Given the description of an element on the screen output the (x, y) to click on. 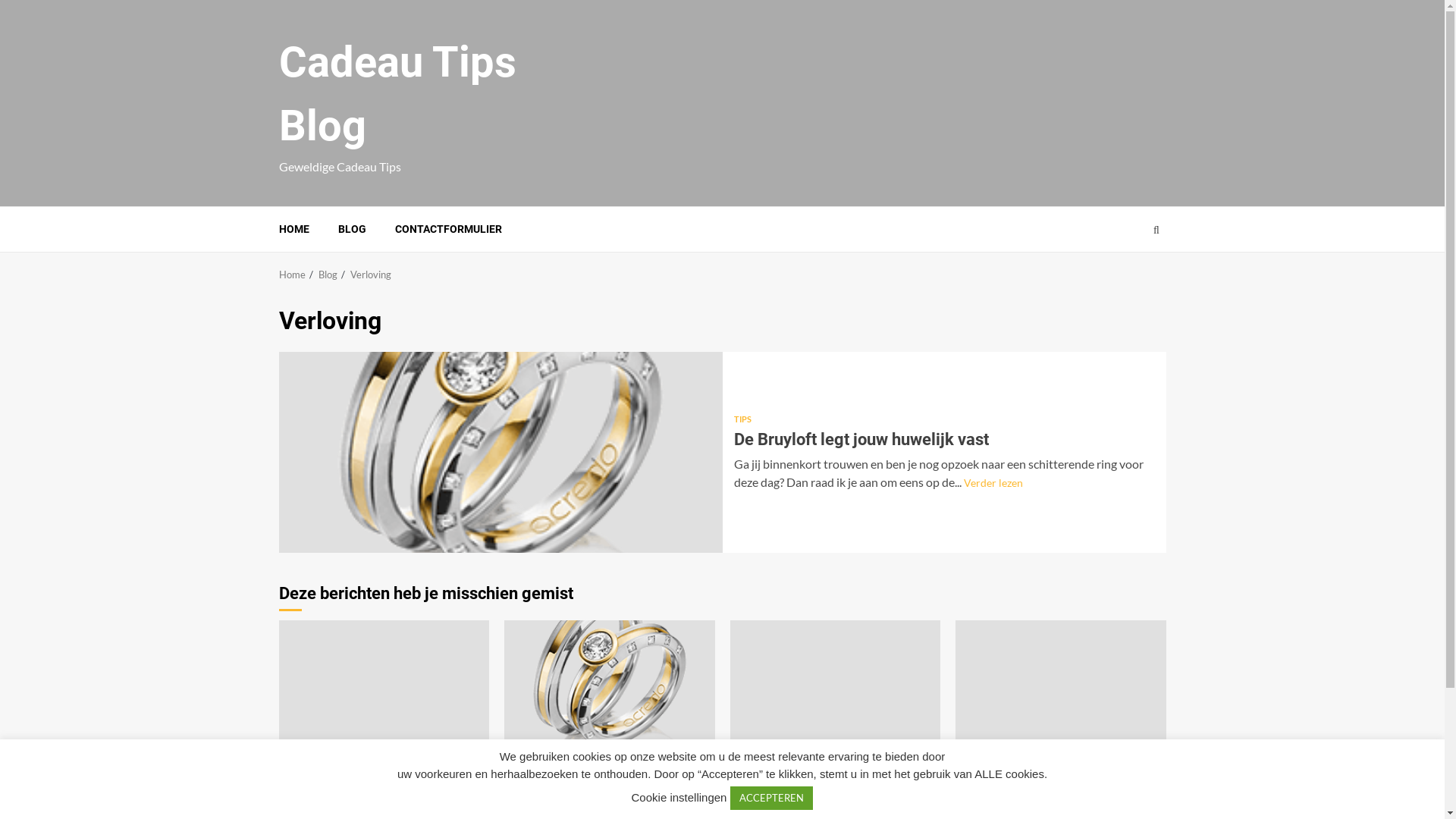
Design loungebedden Element type: text (384, 688)
CONTACTFORMULIER Element type: text (447, 229)
De Bruyloft legt jouw huwelijk vast Element type: text (500, 451)
Design loungebedden Element type: text (355, 792)
Mijn man heeft de van Lier veterschoen Element type: text (1047, 801)
Cadeau Tips Blog Element type: text (397, 93)
ACCEPTEREN Element type: text (771, 797)
De Bruyloft legt jouw huwelijk vast Element type: text (609, 688)
Verloving Element type: text (370, 274)
Verder lezen Element type: text (992, 482)
Cookie instellingen Element type: text (679, 796)
MODE Element type: text (978, 773)
TIPS Element type: text (742, 418)
TIPS Element type: text (750, 773)
Zoeken Element type: text (1126, 274)
Blog Element type: text (327, 274)
TIPS Element type: text (298, 773)
Mijn man heeft de van Lier veterschoen Element type: text (1060, 688)
Search Element type: hover (1155, 229)
TIPS Element type: text (524, 773)
Home Element type: text (292, 274)
BLOG Element type: text (352, 229)
De Bruyloft legt jouw huwelijk vast Element type: text (605, 801)
HOME Element type: text (294, 229)
De Bruyloft legt jouw huwelijk vast Element type: text (861, 438)
